Given the description of an element on the screen output the (x, y) to click on. 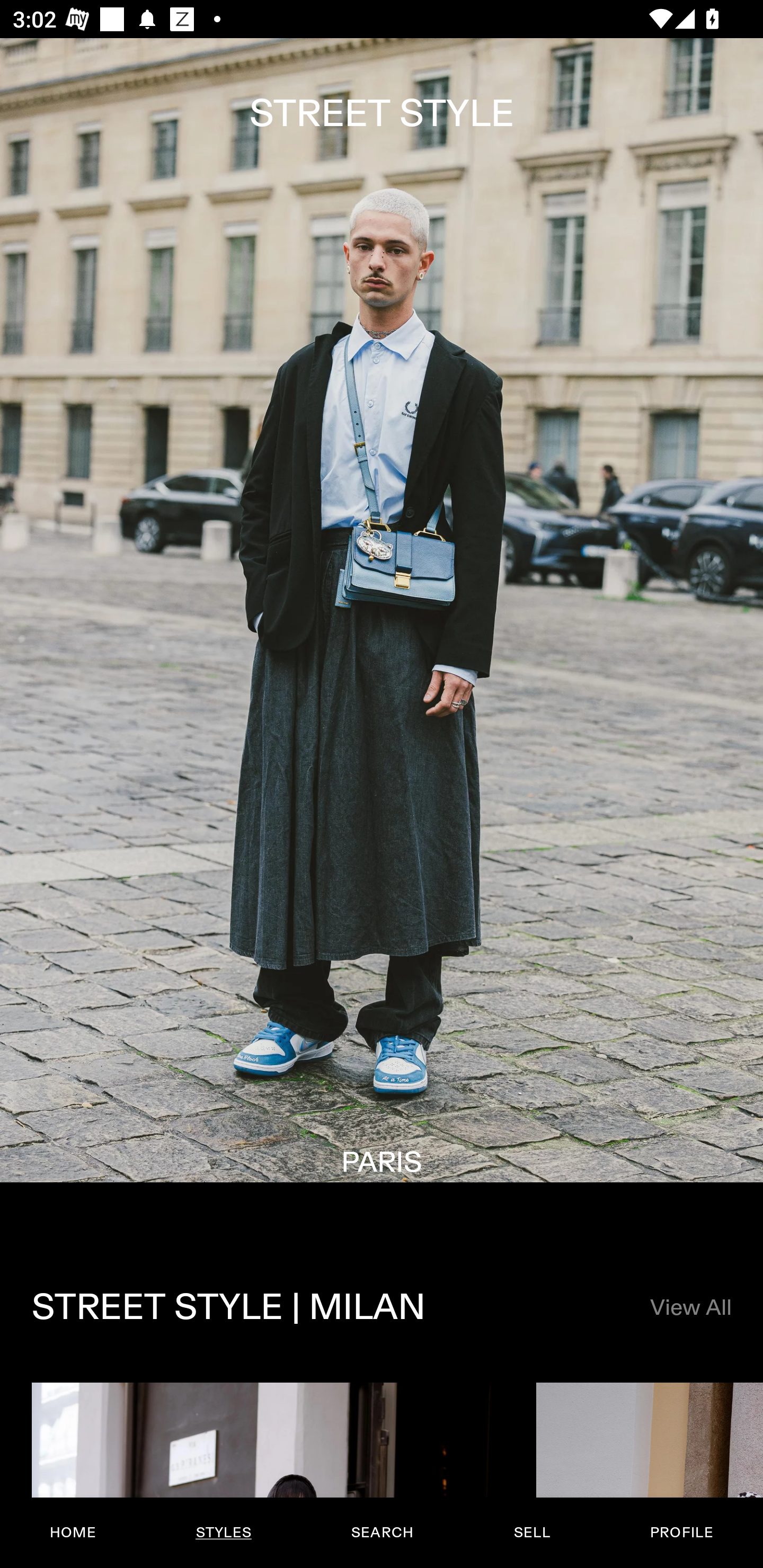
View All (690, 1308)
HOME (72, 1532)
STYLES (222, 1532)
SEARCH (381, 1532)
SELL (531, 1532)
PROFILE (681, 1532)
